Given the description of an element on the screen output the (x, y) to click on. 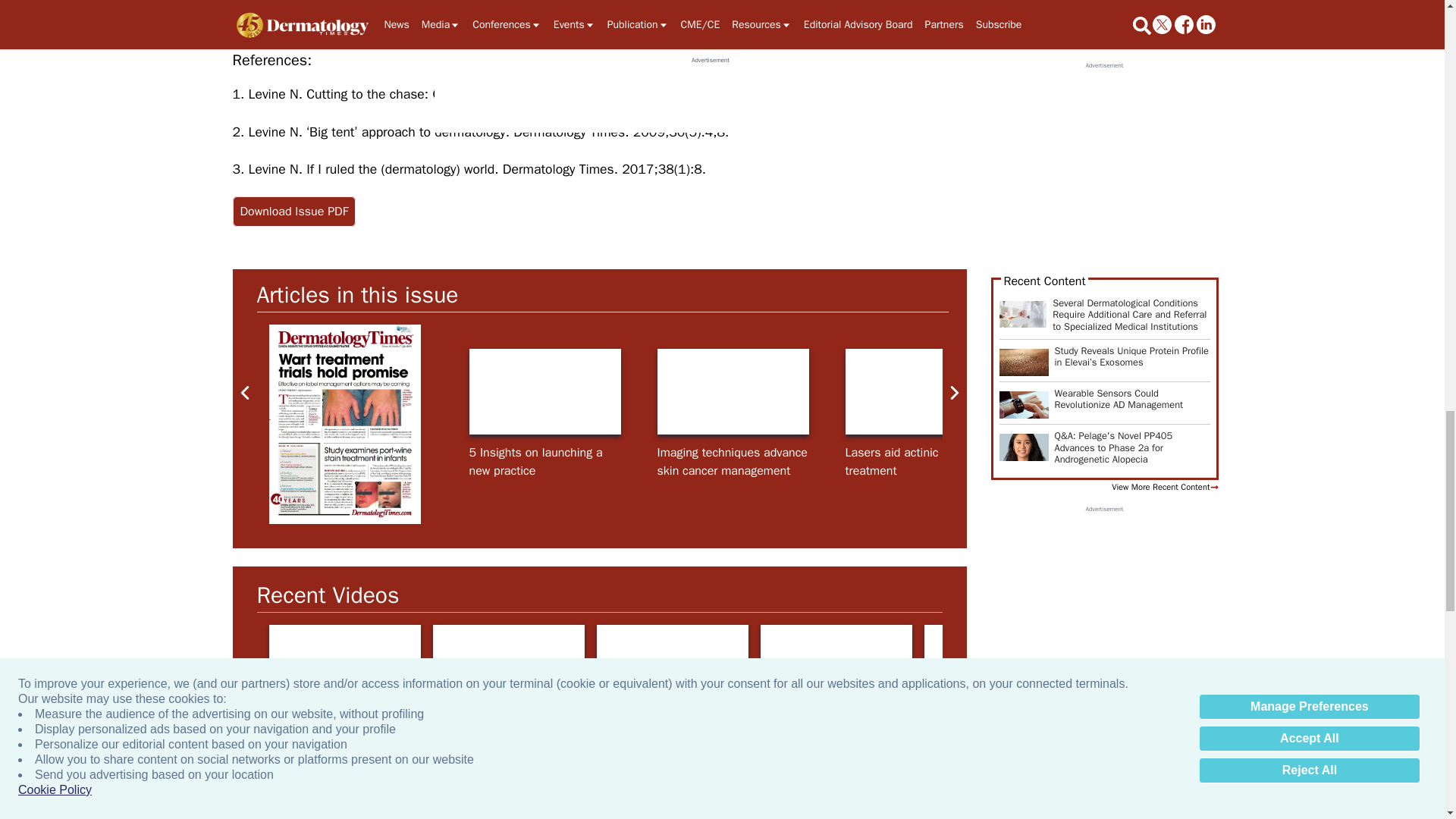
melanoma (1108, 391)
Dr. Keaney (544, 391)
sunscreen (1297, 391)
Doctors calibrating a CO2 laser before a procedure (919, 391)
Imaging techniques advance skin cancer management (732, 391)
